Given the description of an element on the screen output the (x, y) to click on. 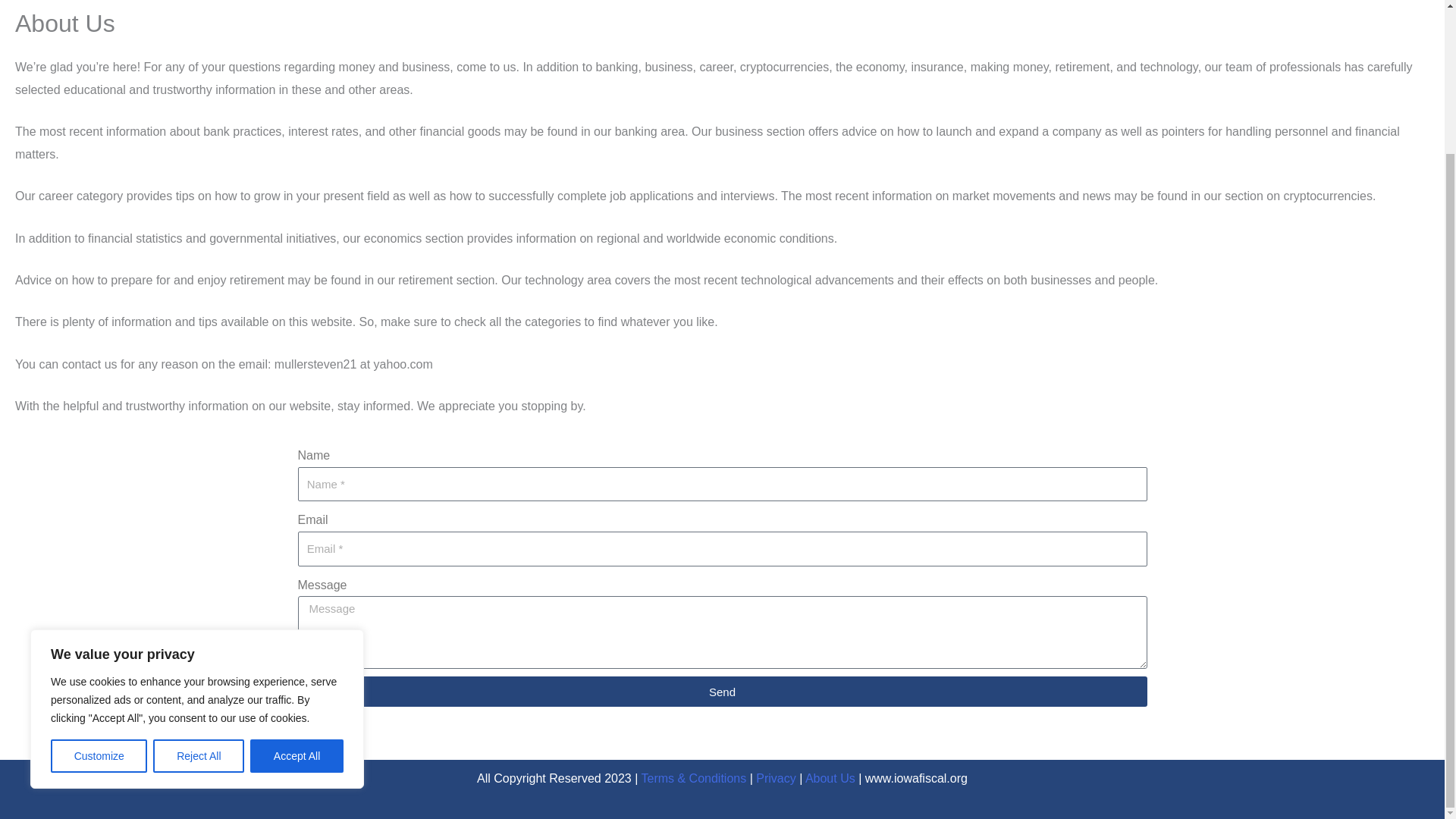
Reject All (198, 576)
Accept All (296, 576)
Customize (98, 576)
Send (722, 691)
